Given the description of an element on the screen output the (x, y) to click on. 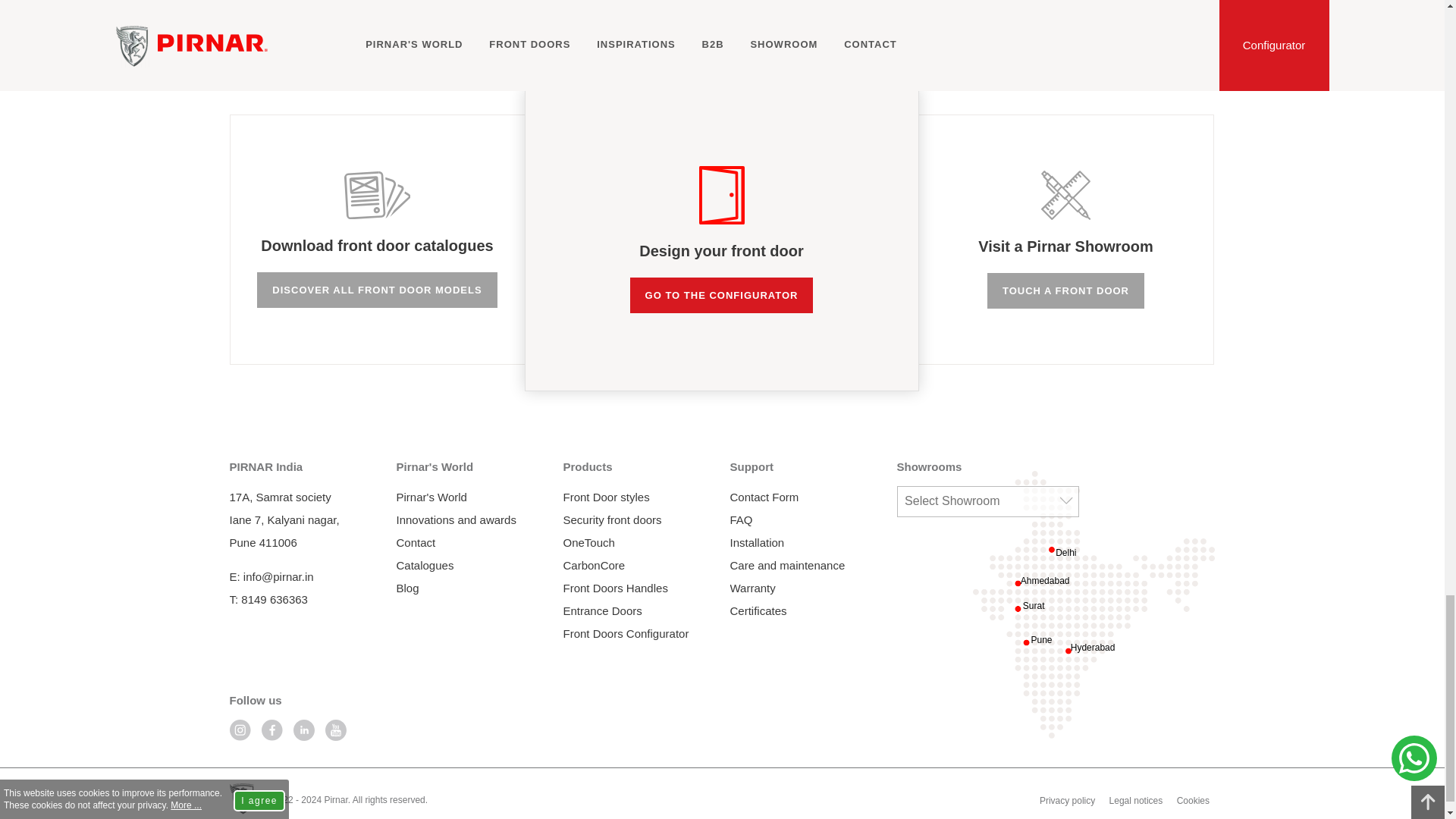
Security (272, 4)
